Given the description of an element on the screen output the (x, y) to click on. 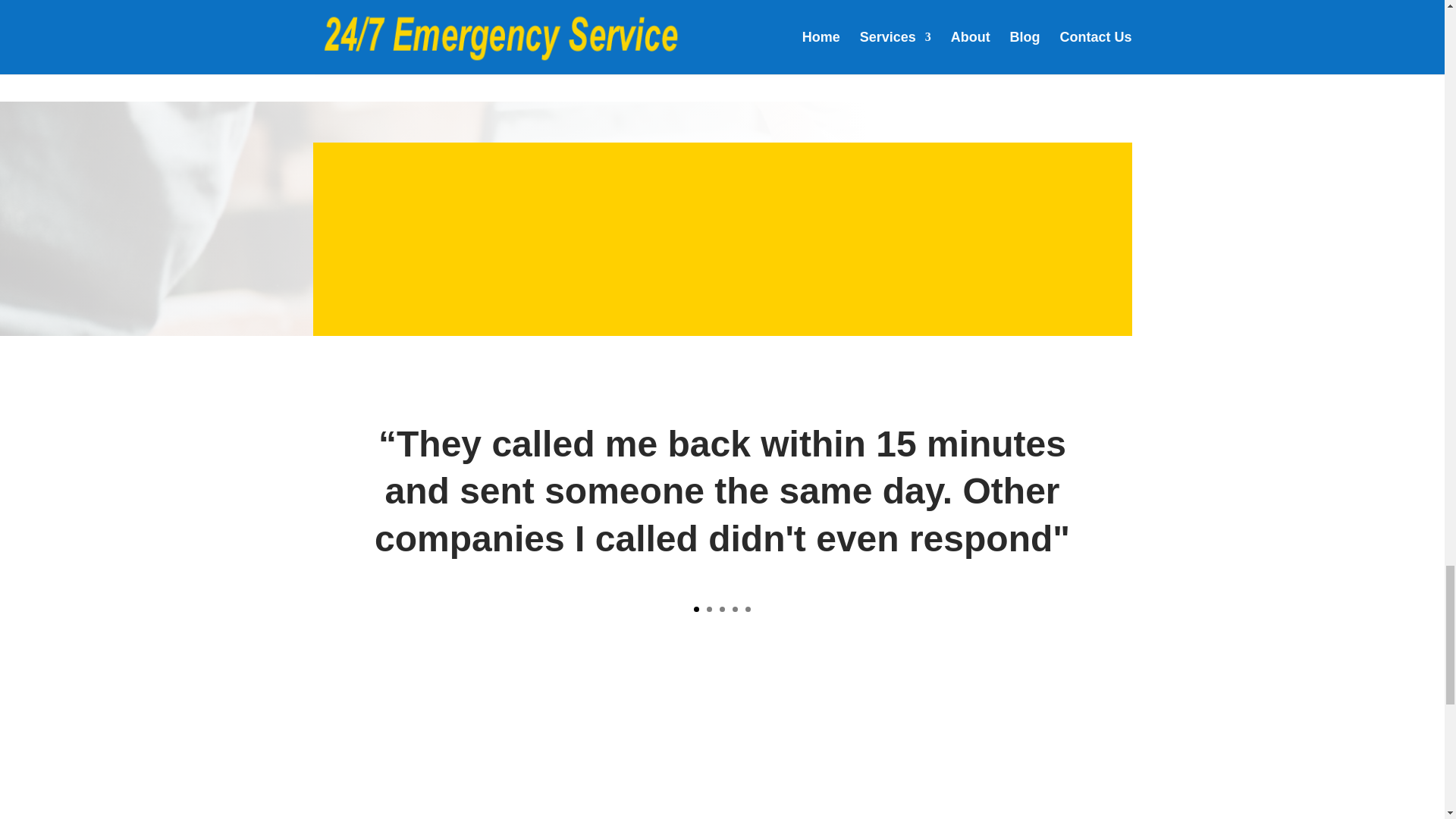
chronicle journal (494, 740)
Screen Shot 2021-07-14 at 4.32.42 PM (721, 749)
YouTube video player (933, 16)
YouTube video player (511, 16)
